Given the description of an element on the screen output the (x, y) to click on. 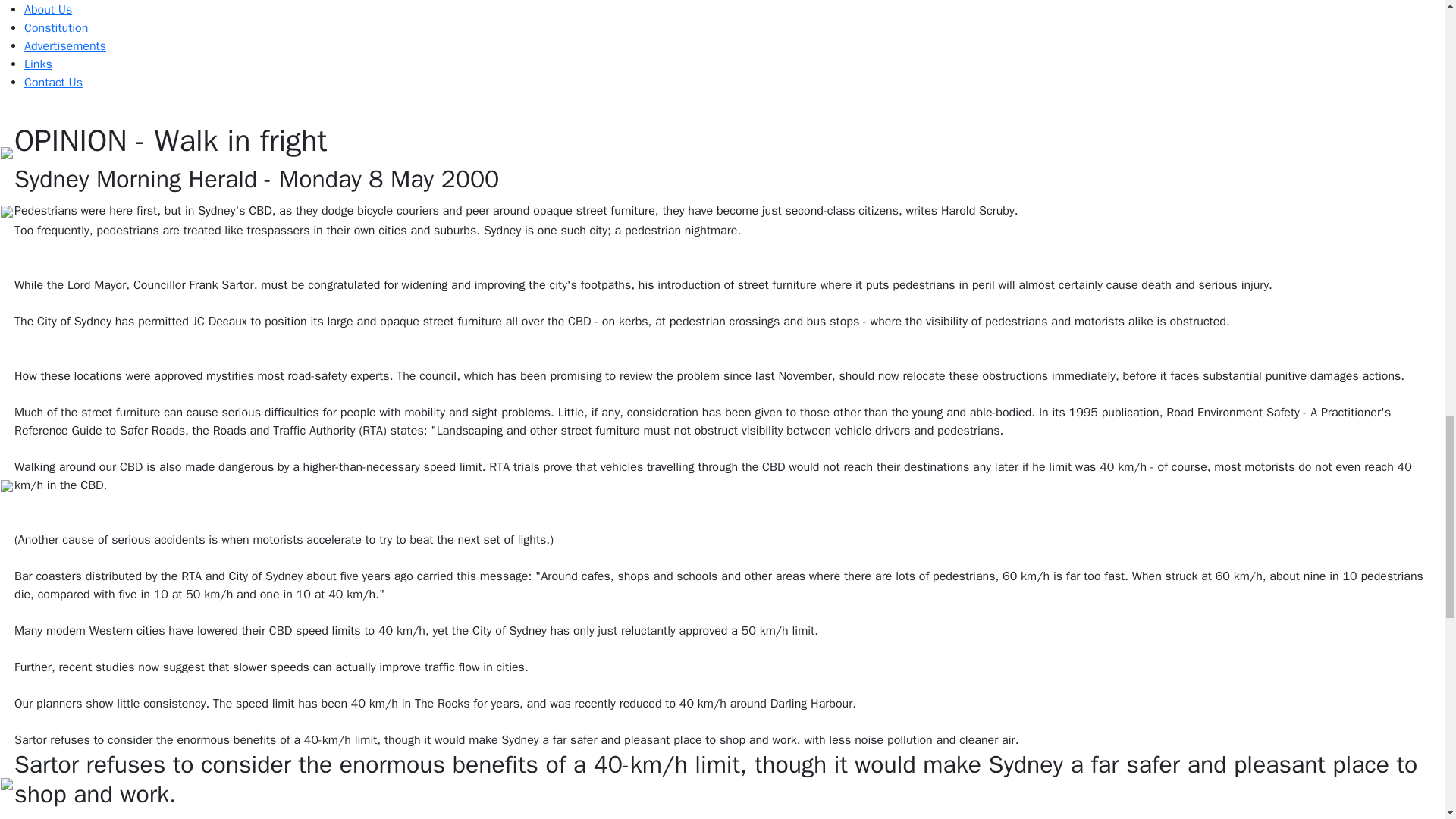
Constitution (55, 28)
Contact Us (53, 82)
Links (38, 64)
About Us (47, 9)
Advertisements (65, 46)
